Given the description of an element on the screen output the (x, y) to click on. 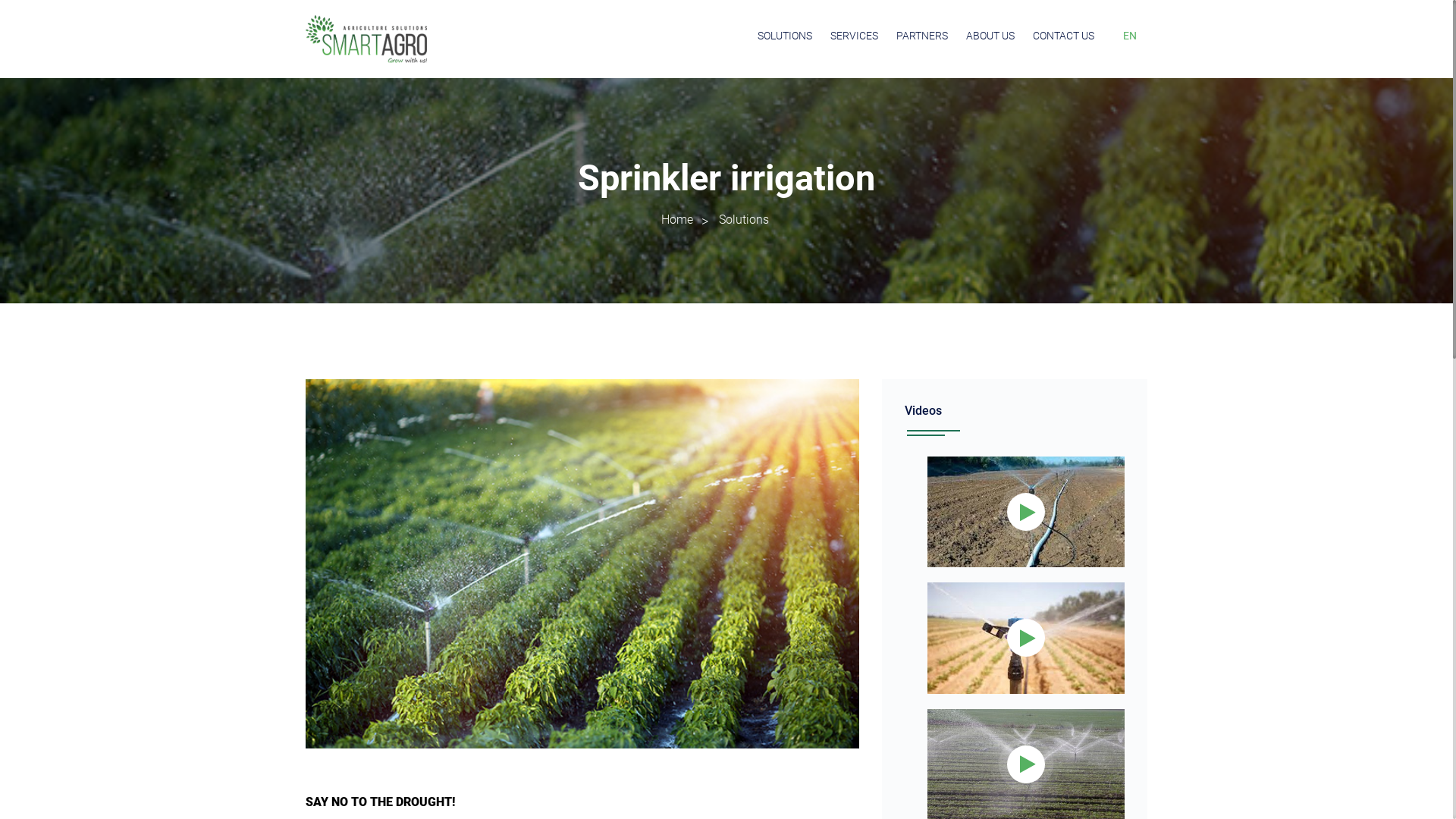
CONTACT US Element type: text (1063, 35)
EN Element type: text (1129, 35)
Solutions Element type: text (743, 219)
PARTNERS Element type: text (921, 35)
ABOUT US Element type: text (990, 35)
SOLUTIONS Element type: text (784, 35)
SERVICES Element type: text (854, 35)
Home Element type: text (677, 219)
